Given the description of an element on the screen output the (x, y) to click on. 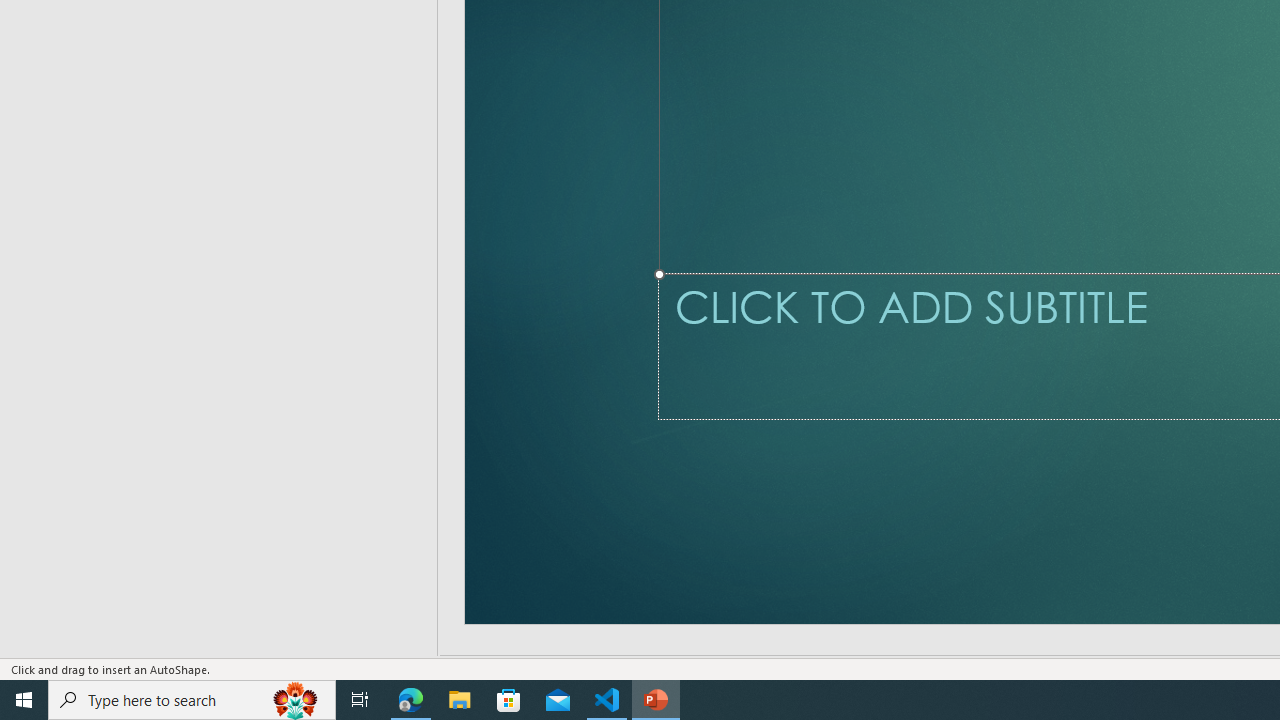
Microsoft Edge - 1 running window (411, 699)
